Given the description of an element on the screen output the (x, y) to click on. 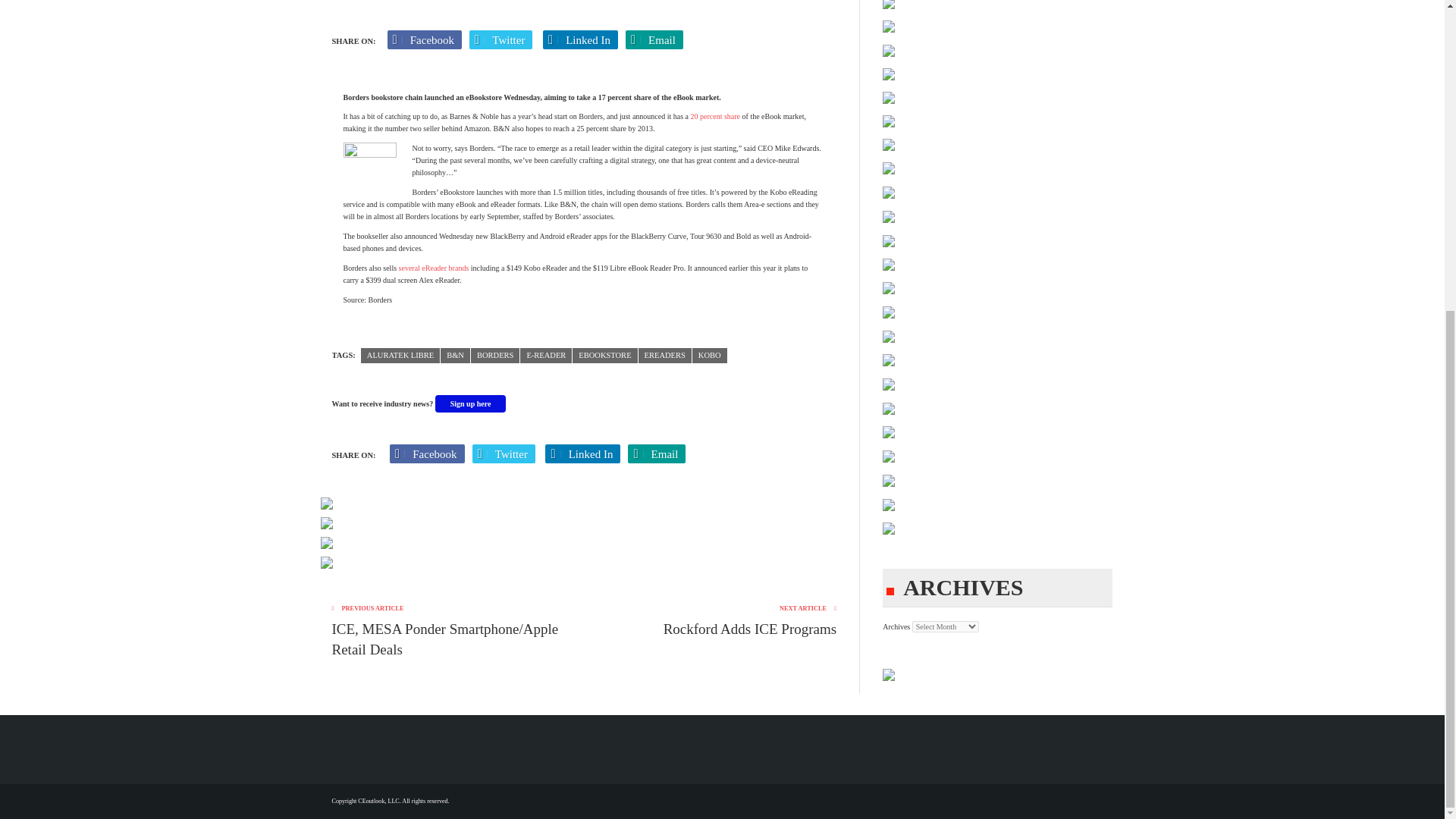
Facebook (425, 39)
BORDERSlogo (369, 168)
Twitter (500, 39)
Email (654, 39)
Borders (494, 355)
Linked In (580, 39)
e-reader (545, 355)
Aluratek Libre (400, 355)
